Given the description of an element on the screen output the (x, y) to click on. 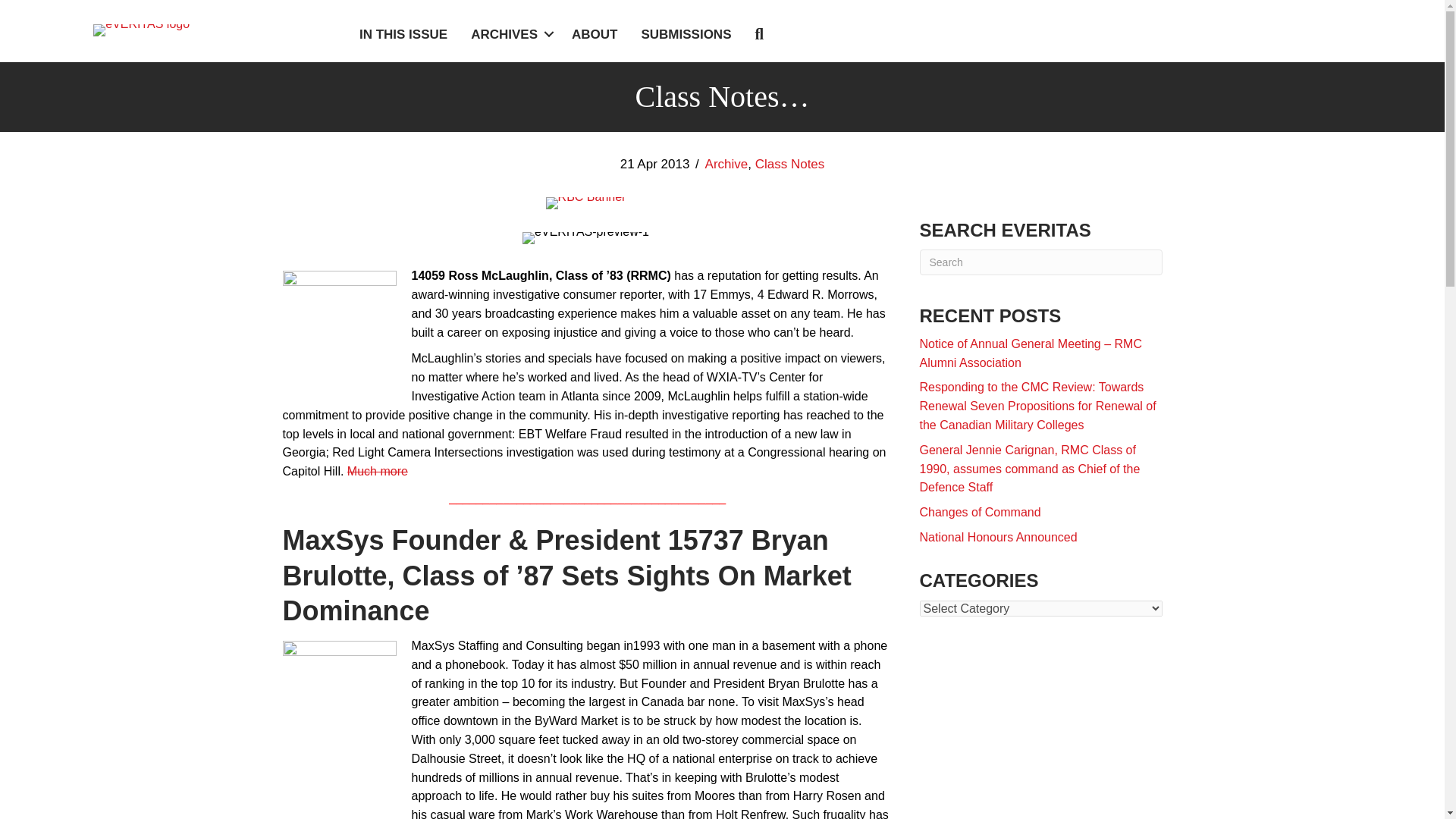
RBC Banner (586, 203)
Ross McLaughlin 2013 (339, 327)
Class Notes (790, 164)
Archive (726, 164)
Changes of Command (979, 512)
ARCHIVES (509, 34)
IN THIS ISSUE (402, 34)
SUBMISSIONS (685, 34)
SEARCH (761, 34)
